Given the description of an element on the screen output the (x, y) to click on. 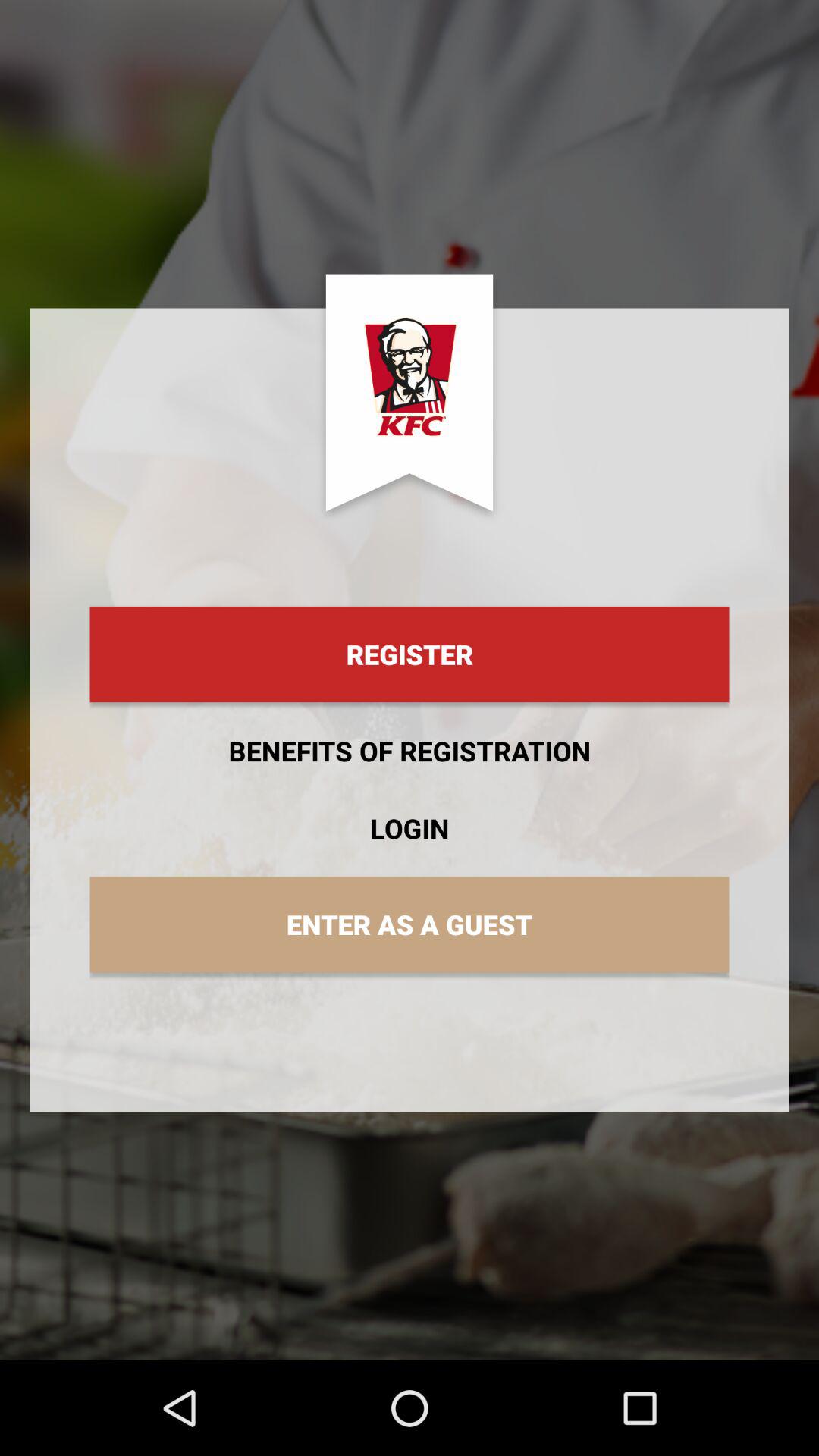
turn on the enter as a icon (409, 924)
